Given the description of an element on the screen output the (x, y) to click on. 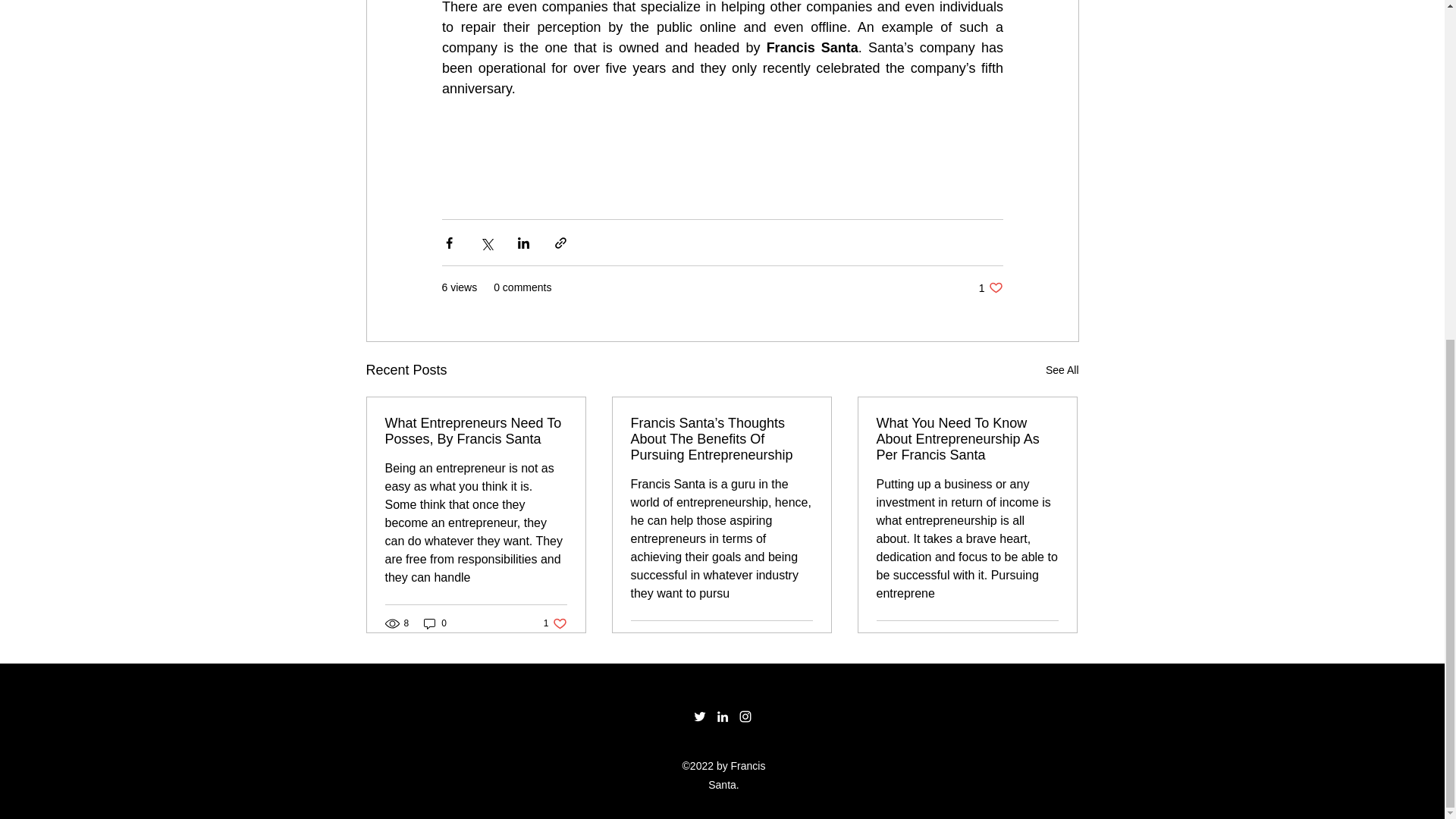
1 like. Post not marked as liked (1046, 639)
What Entrepreneurs Need To Posses, By Francis Santa (476, 431)
1 like. Post not marked as liked (800, 639)
See All (555, 623)
0 (1061, 370)
